Given the description of an element on the screen output the (x, y) to click on. 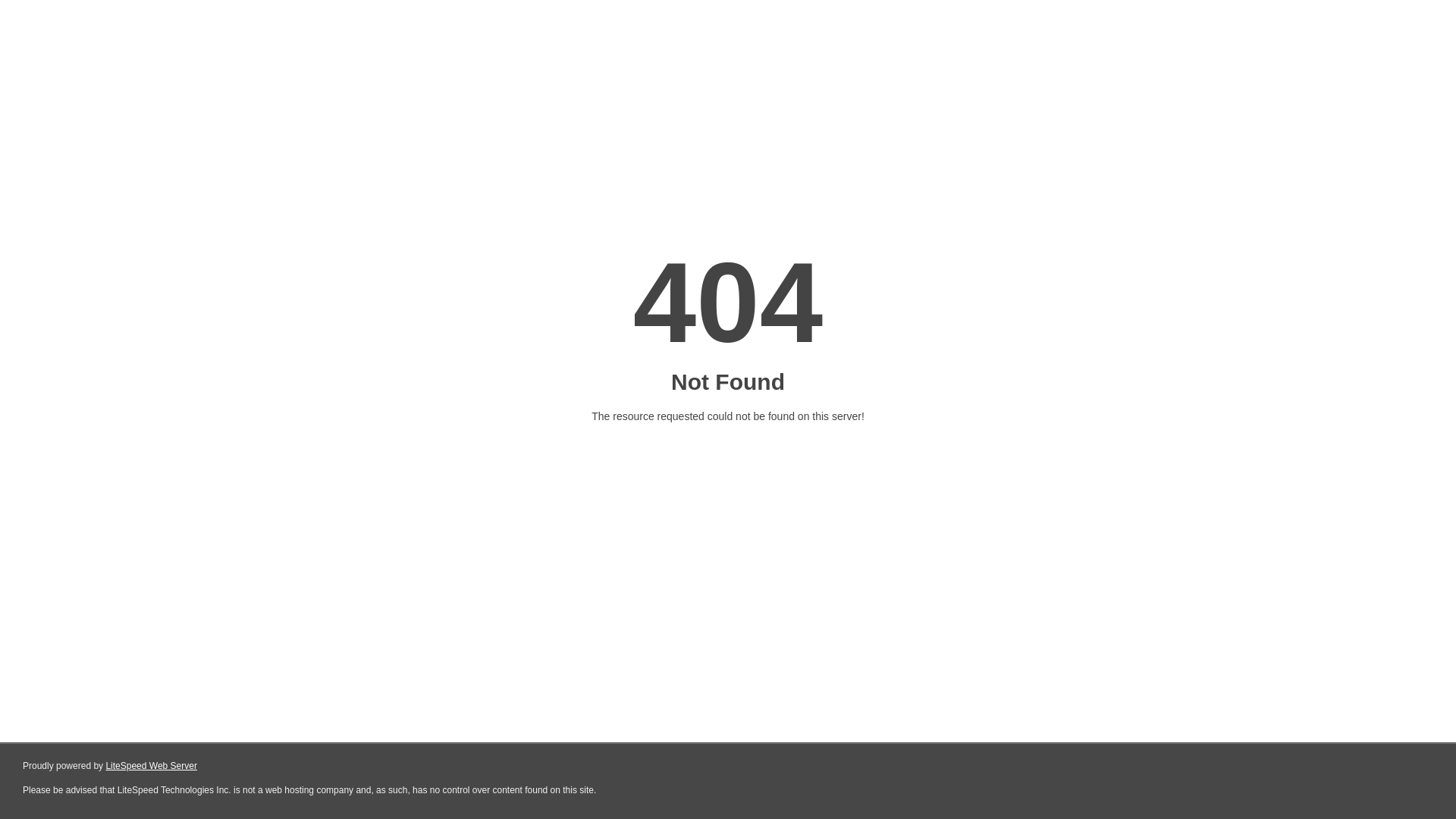
LiteSpeed Web Server Element type: text (151, 765)
